Given the description of an element on the screen output the (x, y) to click on. 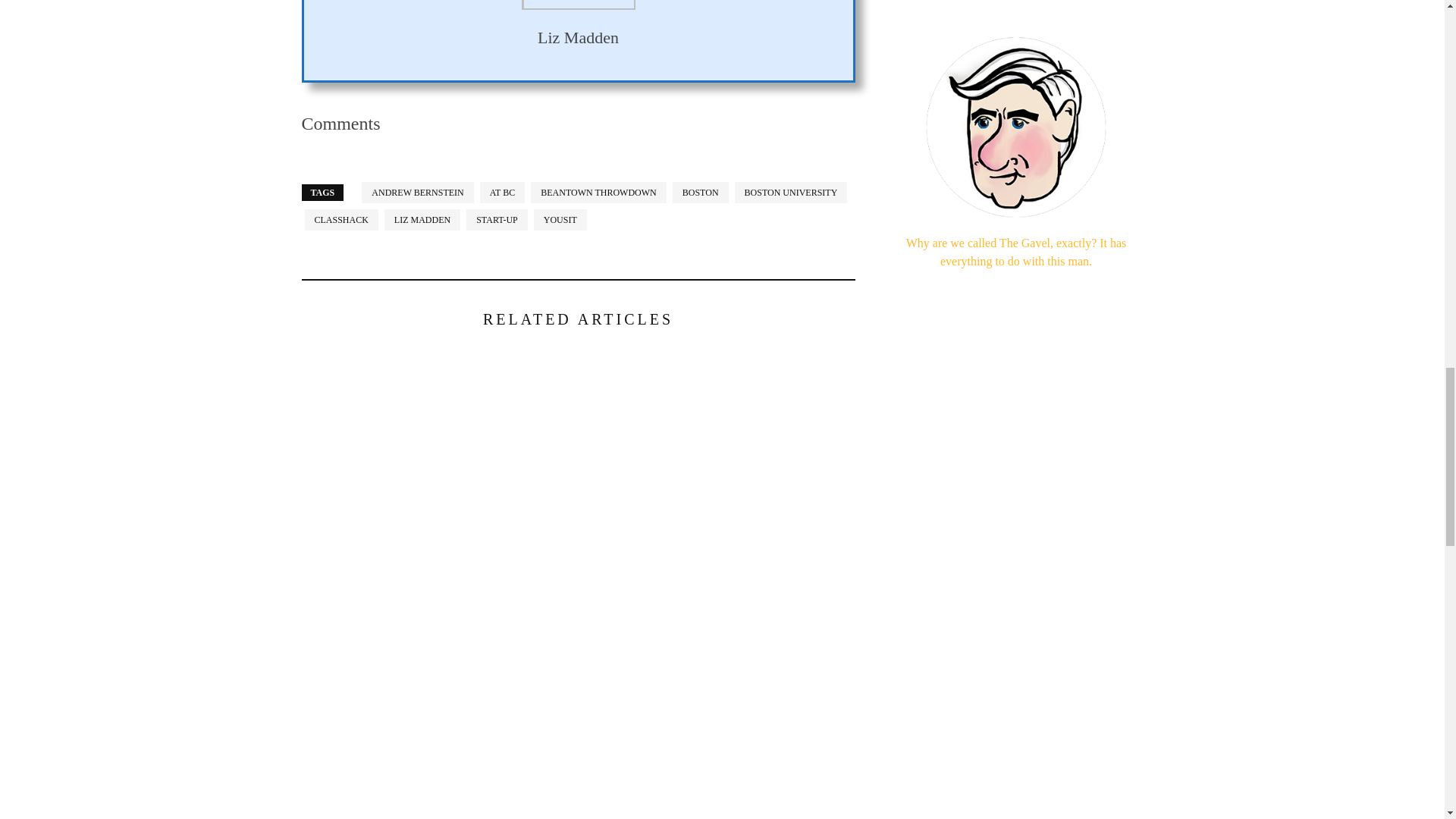
View all posts tagged Andrew Bernstein (417, 192)
View all posts tagged At BC (502, 192)
View all posts tagged start-up (496, 219)
View all posts tagged beantown throwdown (598, 192)
View all posts tagged Boston (700, 192)
View all posts tagged YouSit (560, 219)
View all posts tagged boston university (791, 192)
View all posts tagged Liz Madden (422, 219)
View all posts tagged ClassHack (341, 219)
